Given the description of an element on the screen output the (x, y) to click on. 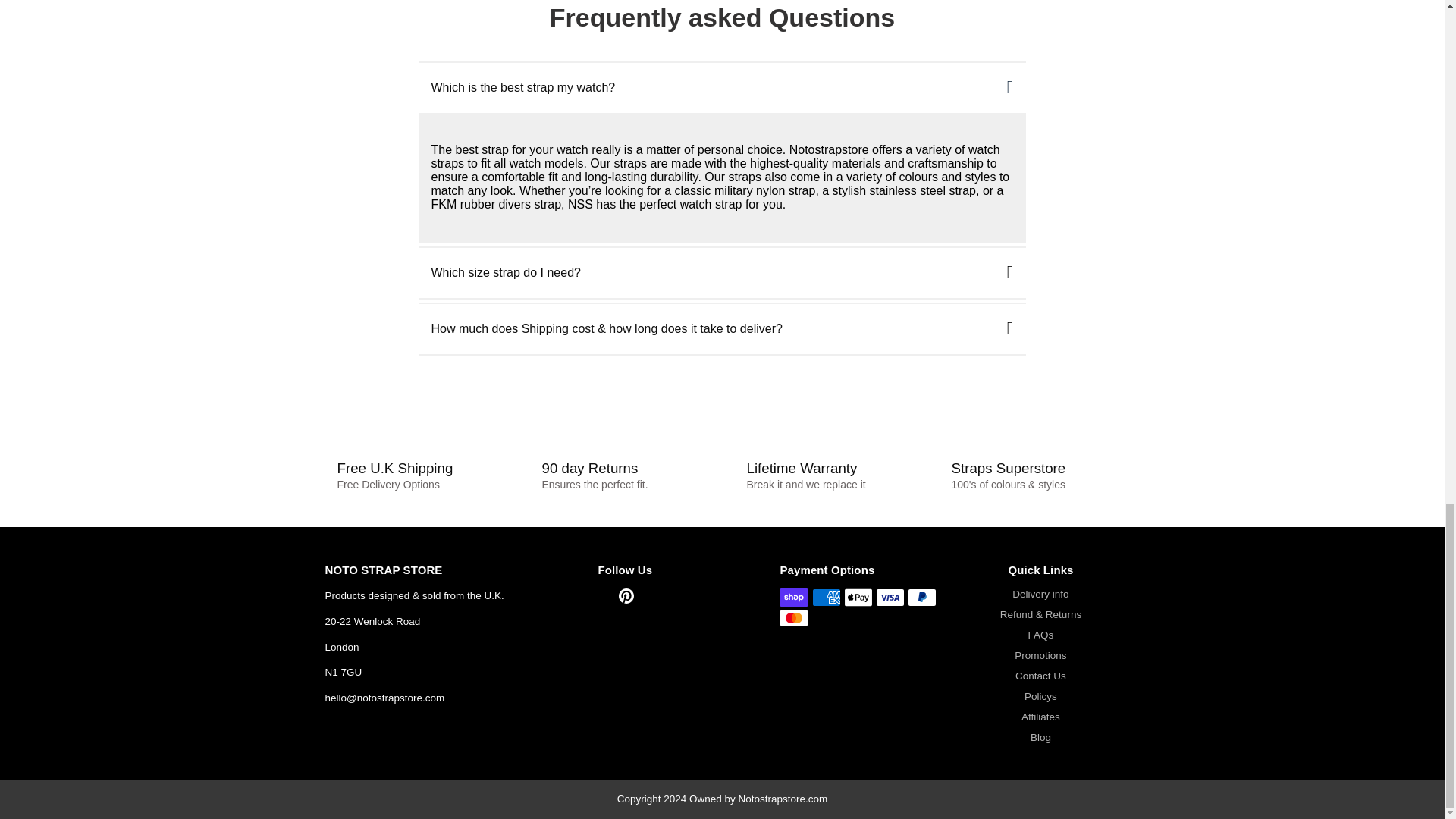
Mastercard (793, 618)
Apple Pay (858, 597)
Visa (890, 597)
American Express (826, 597)
PayPal (921, 597)
Shop Pay (793, 597)
